Given the description of an element on the screen output the (x, y) to click on. 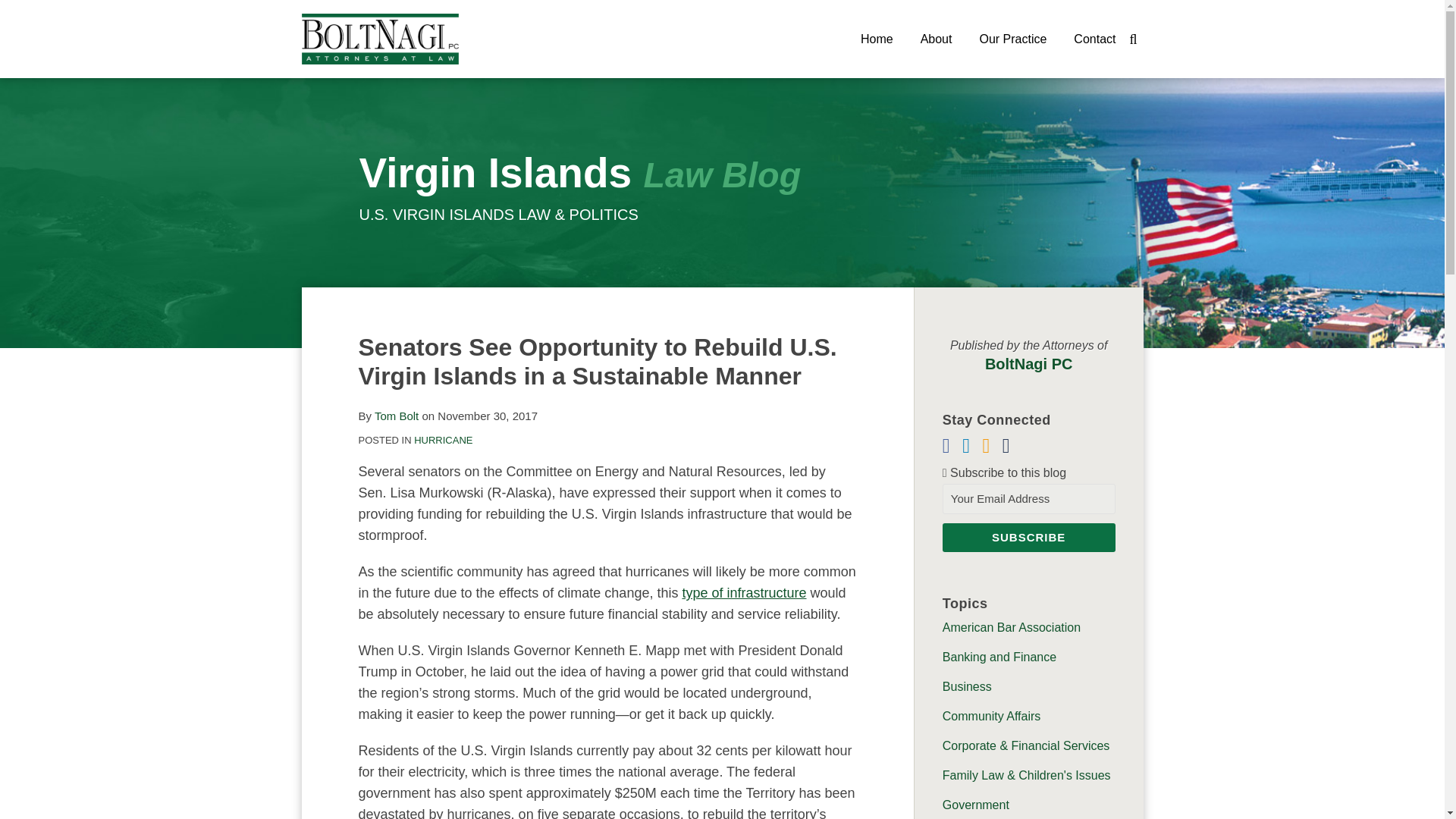
Government (975, 804)
BoltNagi PC (1029, 362)
type of infrastructure (743, 592)
Virgin Islands Law Blog (580, 172)
Business (966, 686)
American Bar Association (1011, 626)
Tom Bolt (396, 415)
Banking and Finance (999, 656)
HURRICANE (442, 439)
Contact (1094, 39)
Community Affairs (991, 716)
Our Practice (1012, 39)
Home (876, 39)
Subscribe (1028, 537)
Subscribe (1028, 537)
